Given the description of an element on the screen output the (x, y) to click on. 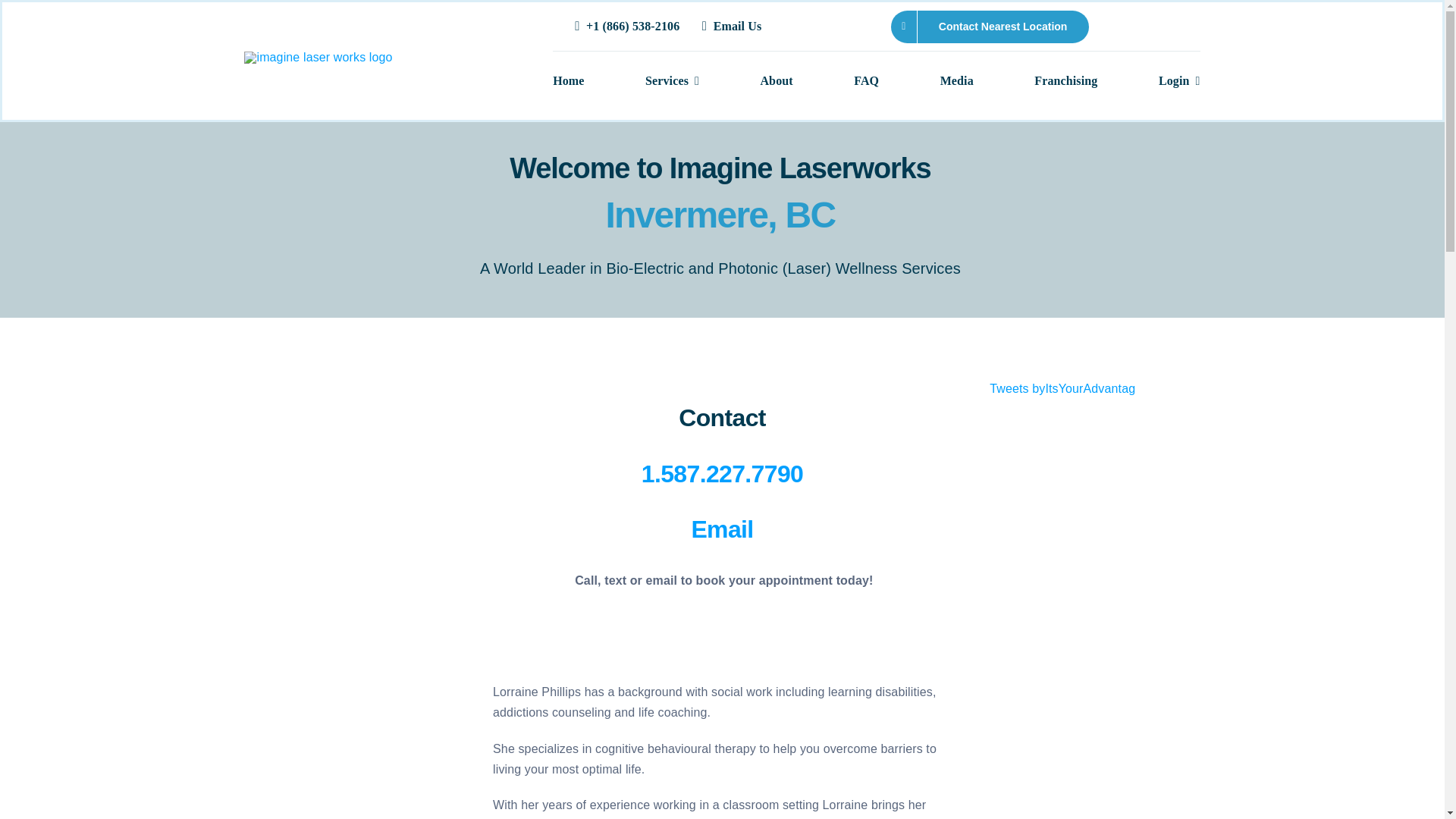
Email Us (734, 26)
About (776, 81)
Login (1178, 81)
Franchising (1065, 81)
Media (957, 81)
Services (671, 81)
Contact Nearest Location (990, 26)
